Given the description of an element on the screen output the (x, y) to click on. 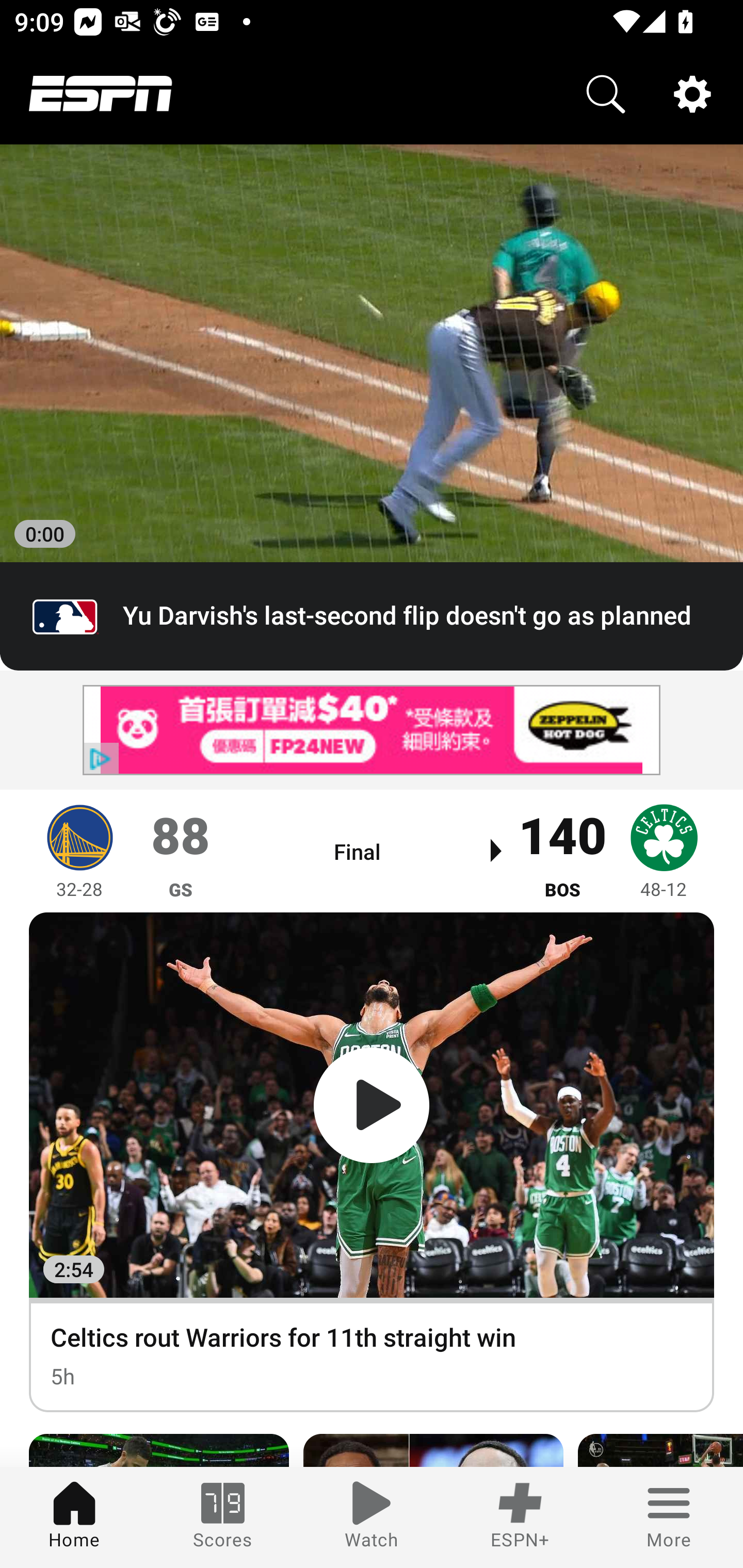
Search (605, 93)
Settings (692, 93)
a79168398e6a07375931 (371, 730)
Scores (222, 1517)
Watch (371, 1517)
ESPN+ (519, 1517)
More (668, 1517)
